Given the description of an element on the screen output the (x, y) to click on. 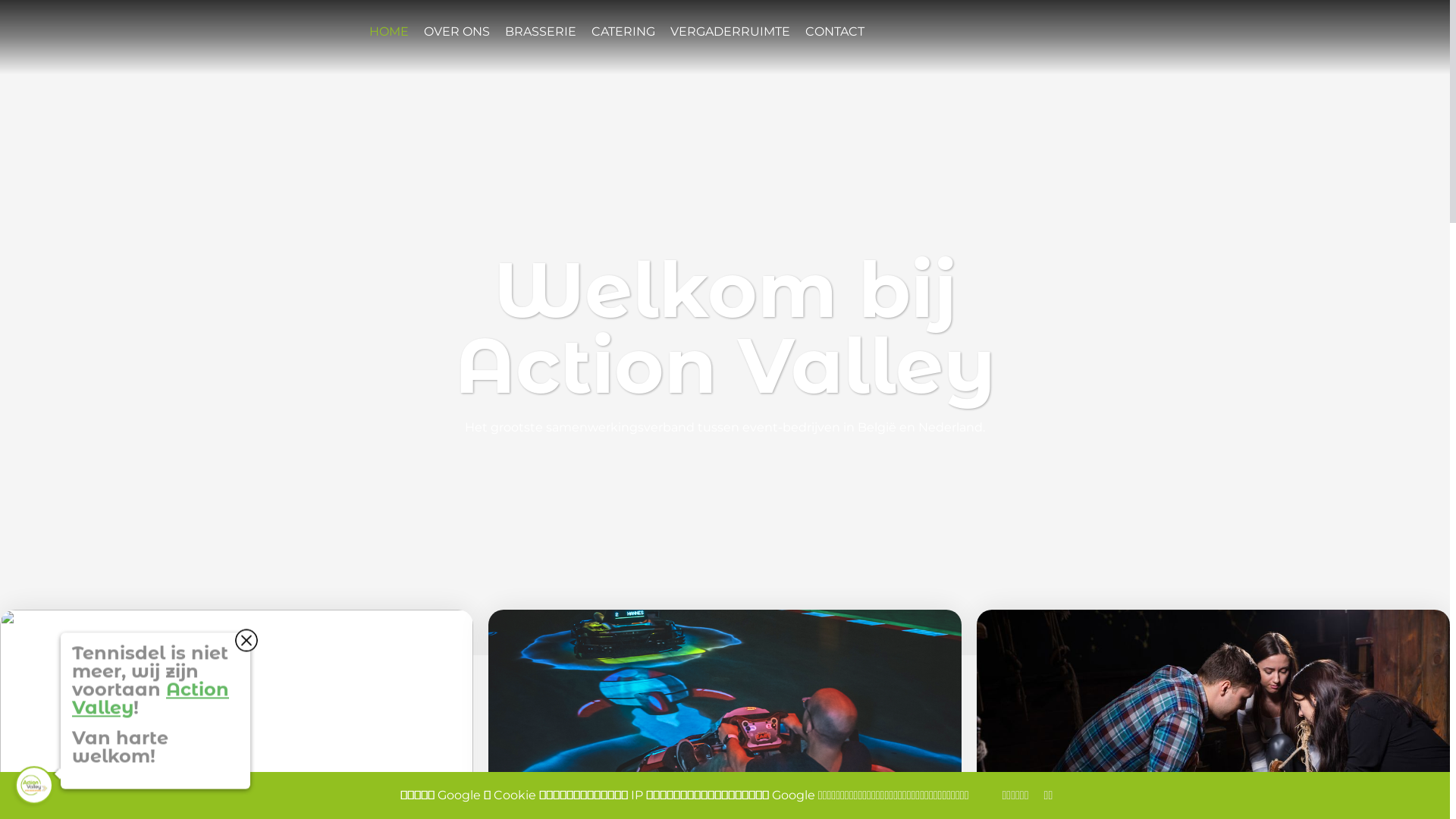
CONTACT Element type: text (834, 31)
OVER ONS Element type: text (456, 31)
HOME Element type: text (388, 31)
BRASSERIE Element type: text (540, 31)
CATERING Element type: text (623, 31)
VERGADERRUIMTE Element type: text (730, 31)
